Given the description of an element on the screen output the (x, y) to click on. 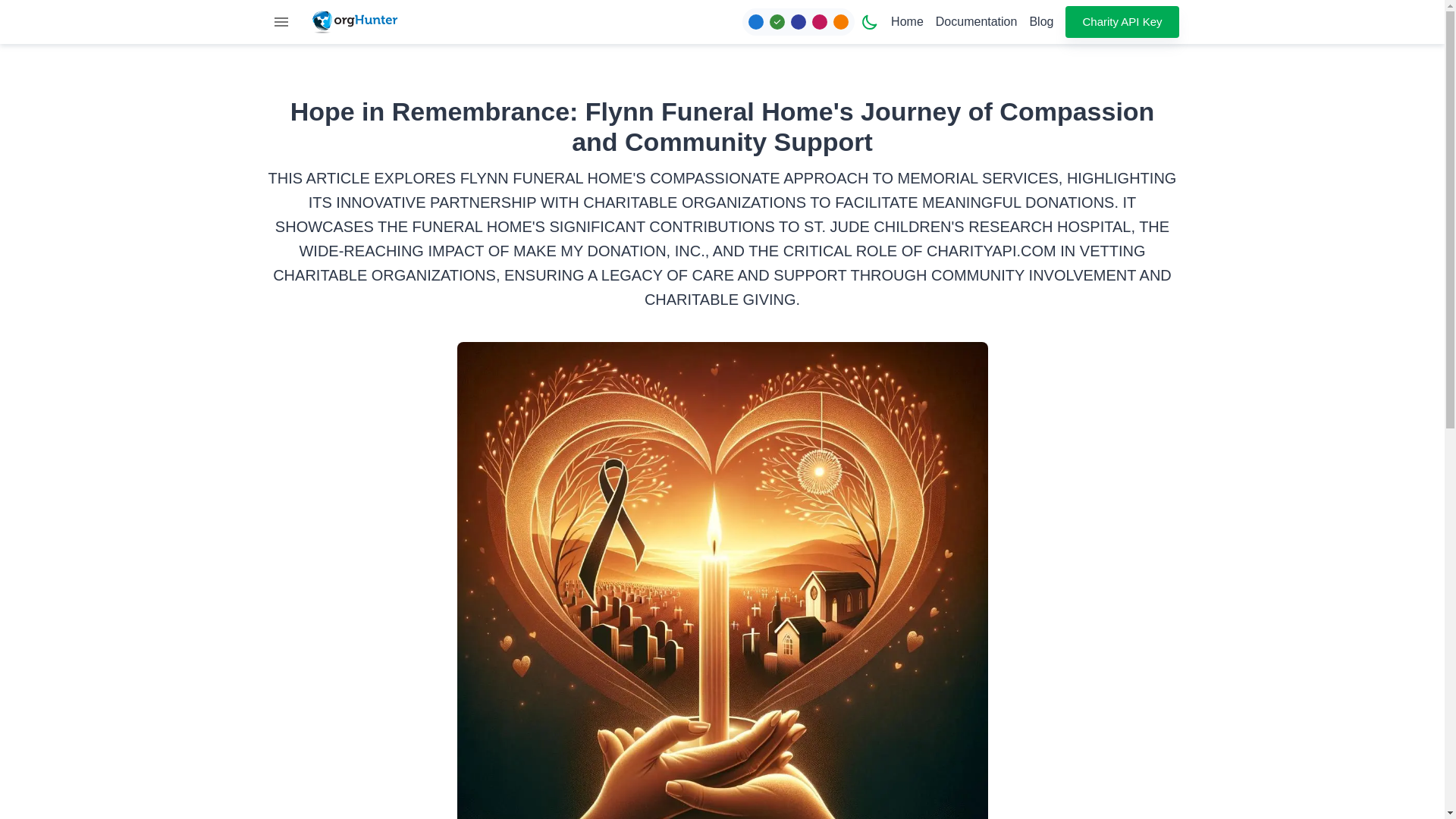
Home (907, 21)
Blog (1040, 21)
Documentation (976, 21)
orgHunter (354, 21)
Charity API Key (1121, 21)
